Given the description of an element on the screen output the (x, y) to click on. 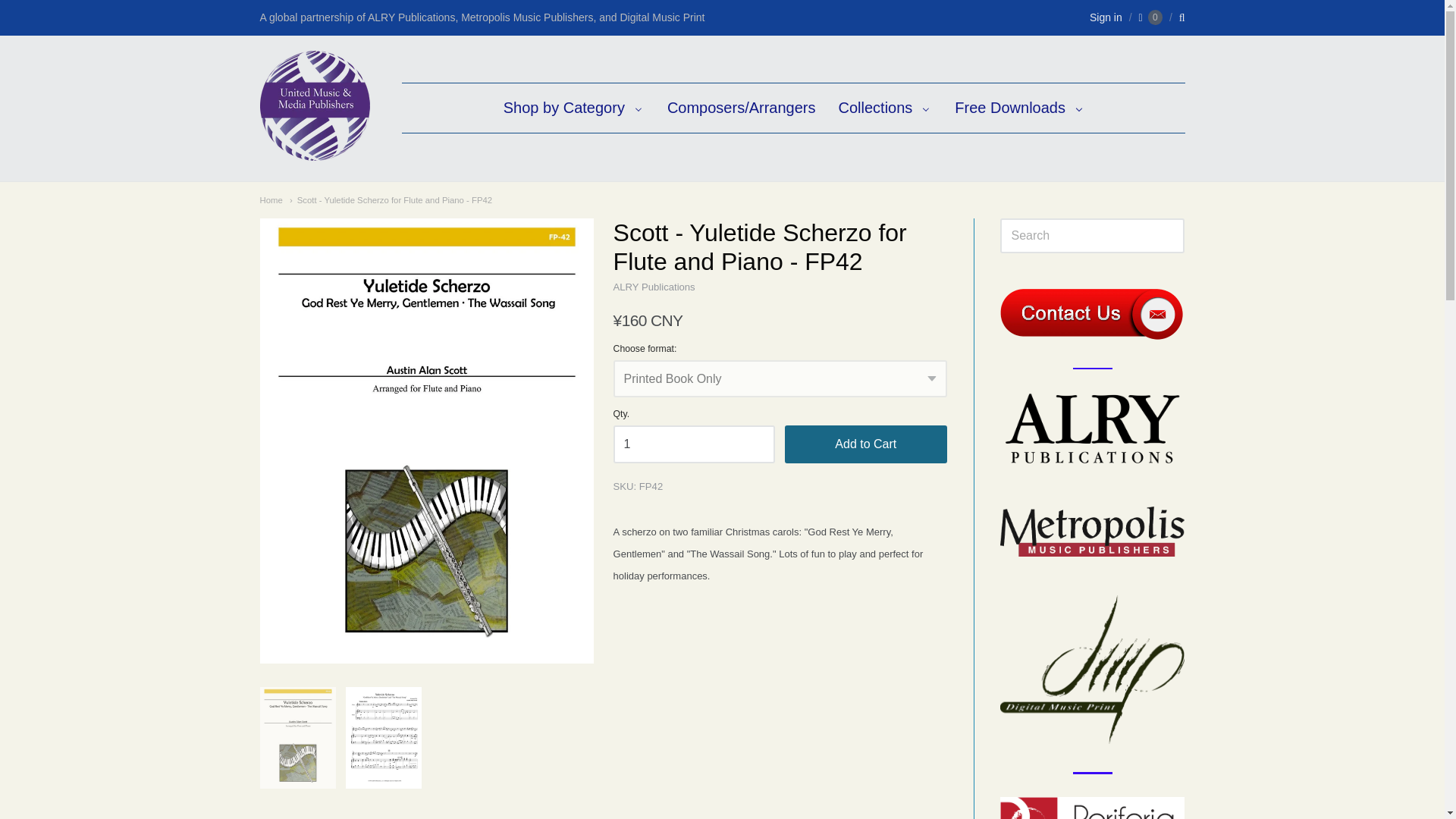
Shop by Category (573, 108)
Sign in (1105, 17)
0 (1149, 17)
United Music and Media Publishers (314, 152)
1 (694, 444)
